Given the description of an element on the screen output the (x, y) to click on. 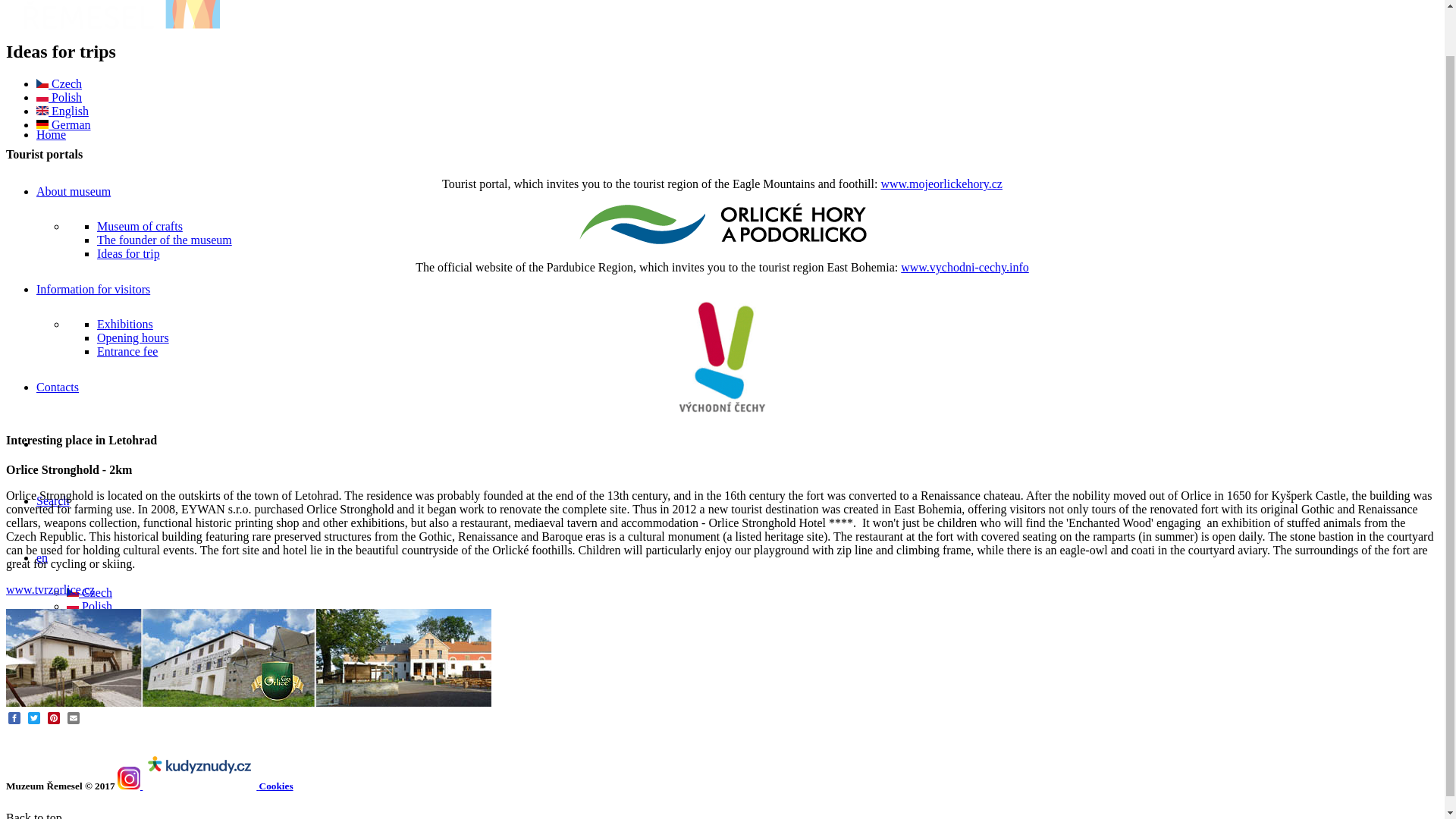
Search (52, 500)
Czech (89, 592)
www.vychodni-cechy.info (965, 267)
Cookies (276, 785)
The founder of the museum (164, 239)
Museum of crafts (140, 226)
English (62, 110)
Information for visitors (92, 288)
English (42, 110)
Polish (58, 97)
Home (50, 133)
Polish (89, 605)
Polish (42, 96)
Czech (58, 83)
